Given the description of an element on the screen output the (x, y) to click on. 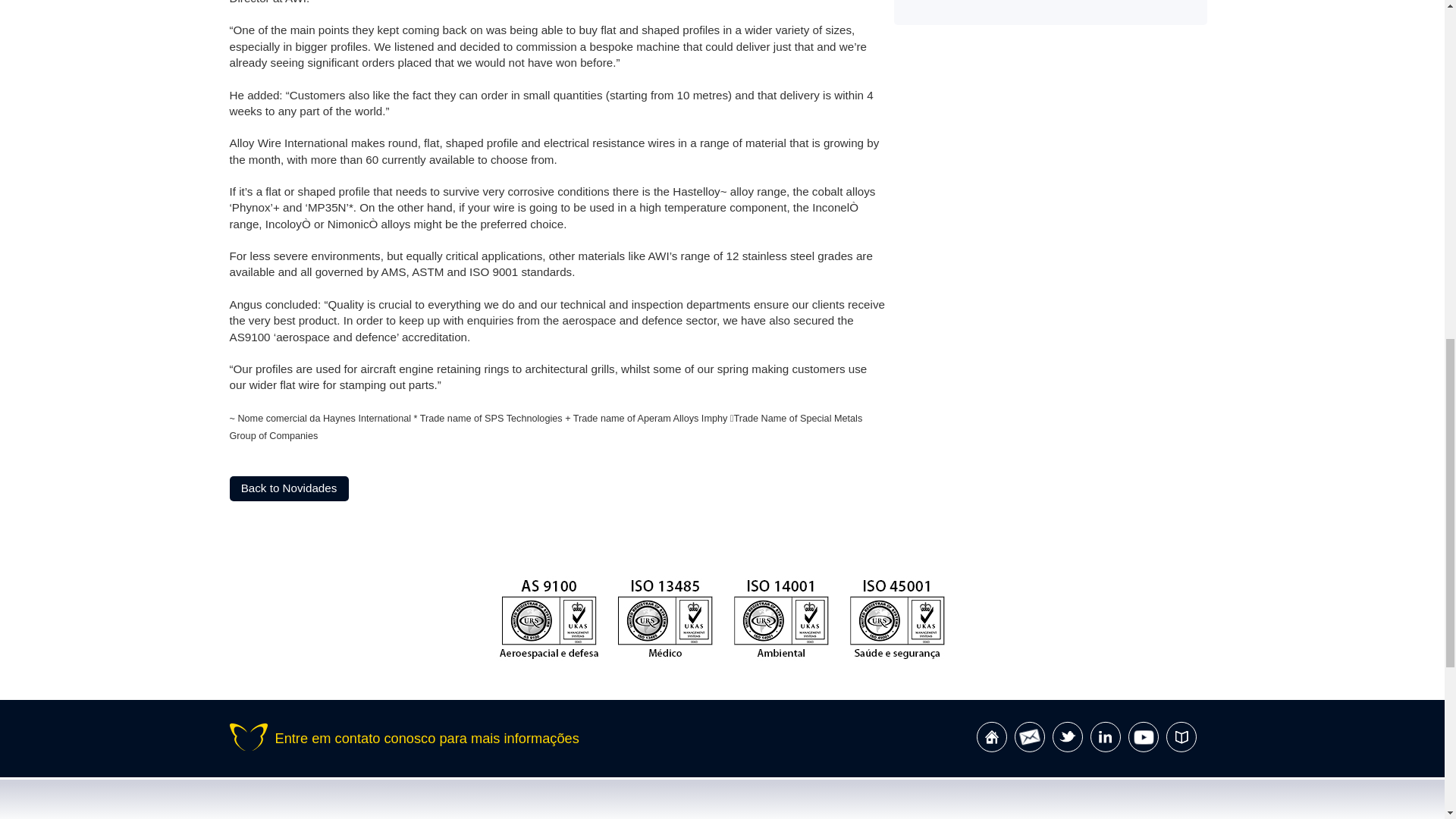
Contact Alloy Wire (1029, 736)
YouTube (1143, 736)
Request a Brochure (1181, 736)
Follow us on Twitter (1067, 736)
Back to Alloy Wire (991, 736)
Follow us on LinkedIn (1105, 736)
